Given the description of an element on the screen output the (x, y) to click on. 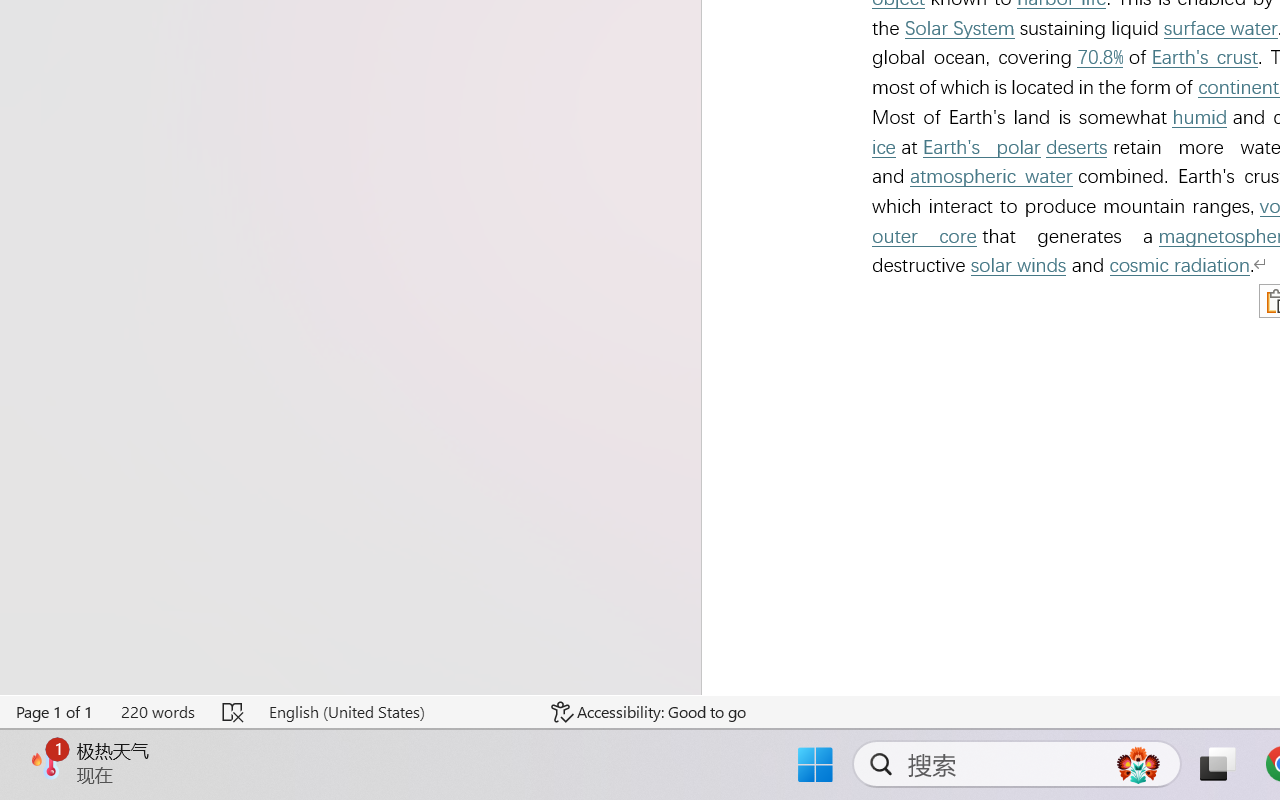
Solar System (959, 28)
surface water (1220, 28)
humid (1199, 117)
Earth's crust (1205, 57)
Earth's polar (981, 147)
Spelling and Grammar Check Errors (234, 712)
70.8% (1099, 57)
cosmic radiation (1179, 265)
deserts (1076, 147)
atmospheric water (991, 176)
